Given the description of an element on the screen output the (x, y) to click on. 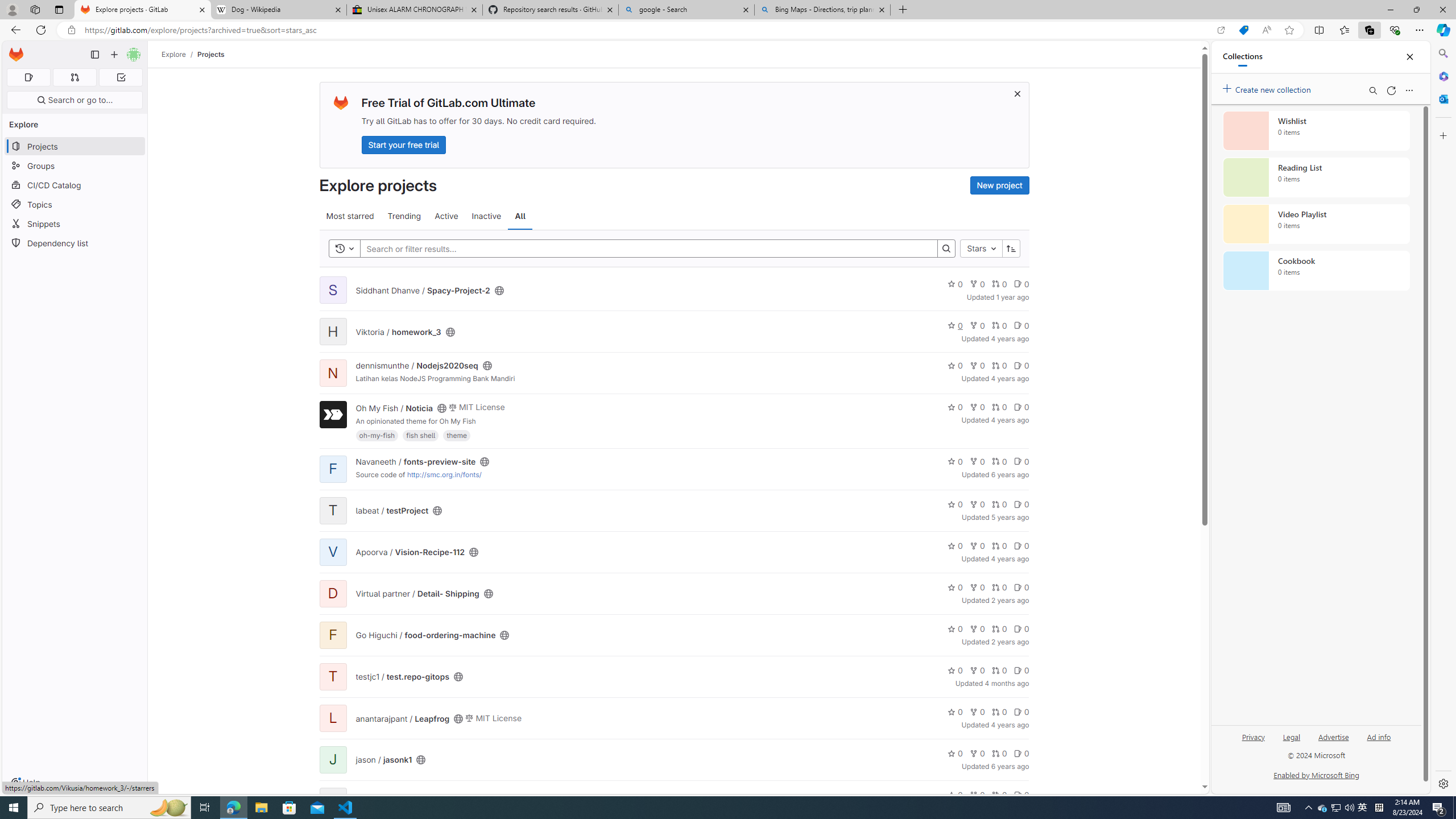
VApoorva / Vision-Recipe-1120000Updated 4 years ago (673, 552)
J (332, 759)
Start your free trial (403, 144)
Advertise (1333, 741)
Primary navigation sidebar (94, 54)
Ad info (1378, 736)
Tlabeat / testProject0000Updated 5 years ago (673, 510)
New project (999, 185)
Inactive (486, 216)
Trending (404, 216)
Sort direction: Ascending (1010, 248)
